Given the description of an element on the screen output the (x, y) to click on. 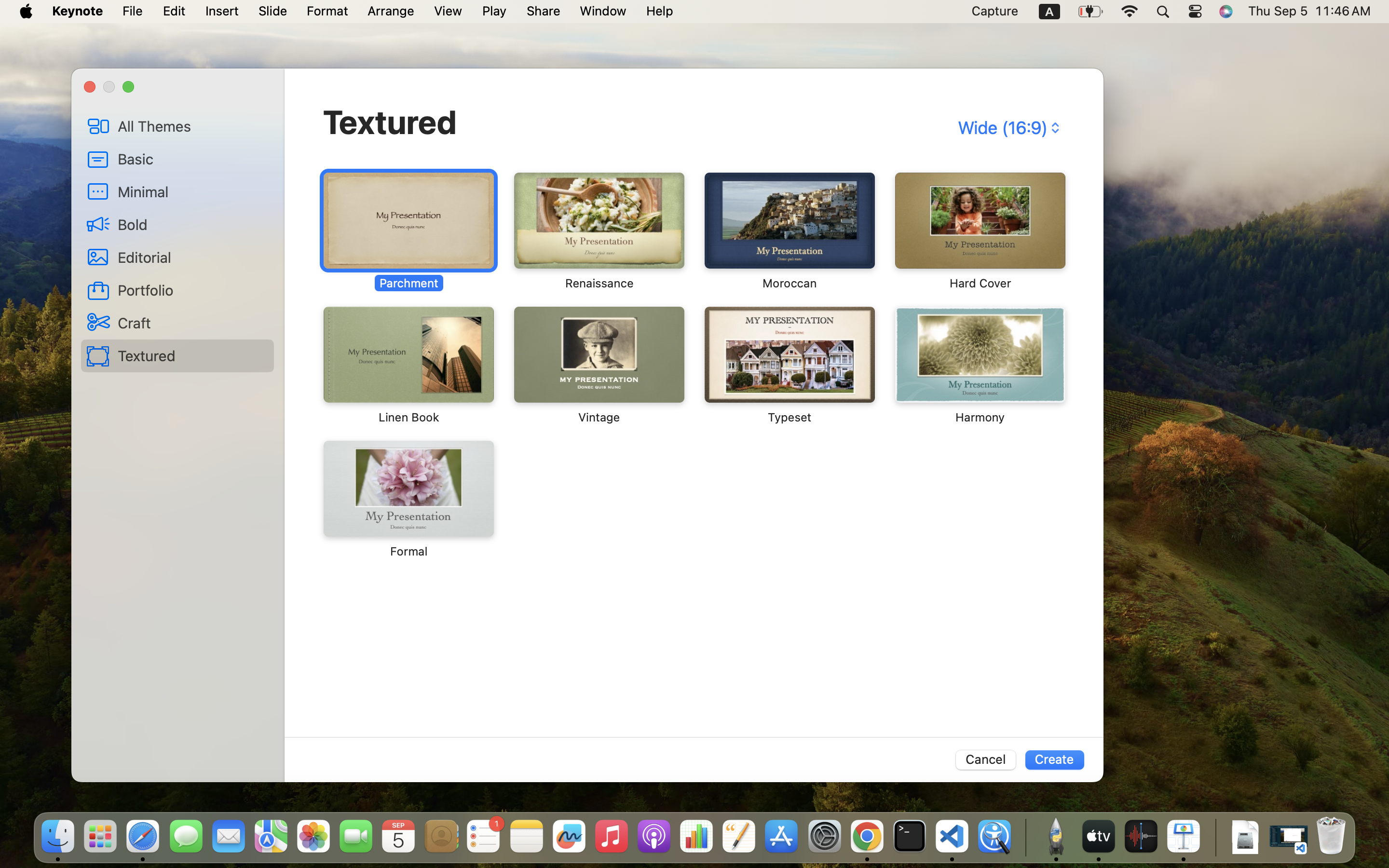
‎⁨Harmony⁩ Element type: AXButton (979, 365)
‎⁨Linen Book⁩ Element type: AXButton (408, 365)
All Themes Element type: AXStaticText (191, 125)
Editorial Element type: AXStaticText (191, 256)
